Given the description of an element on the screen output the (x, y) to click on. 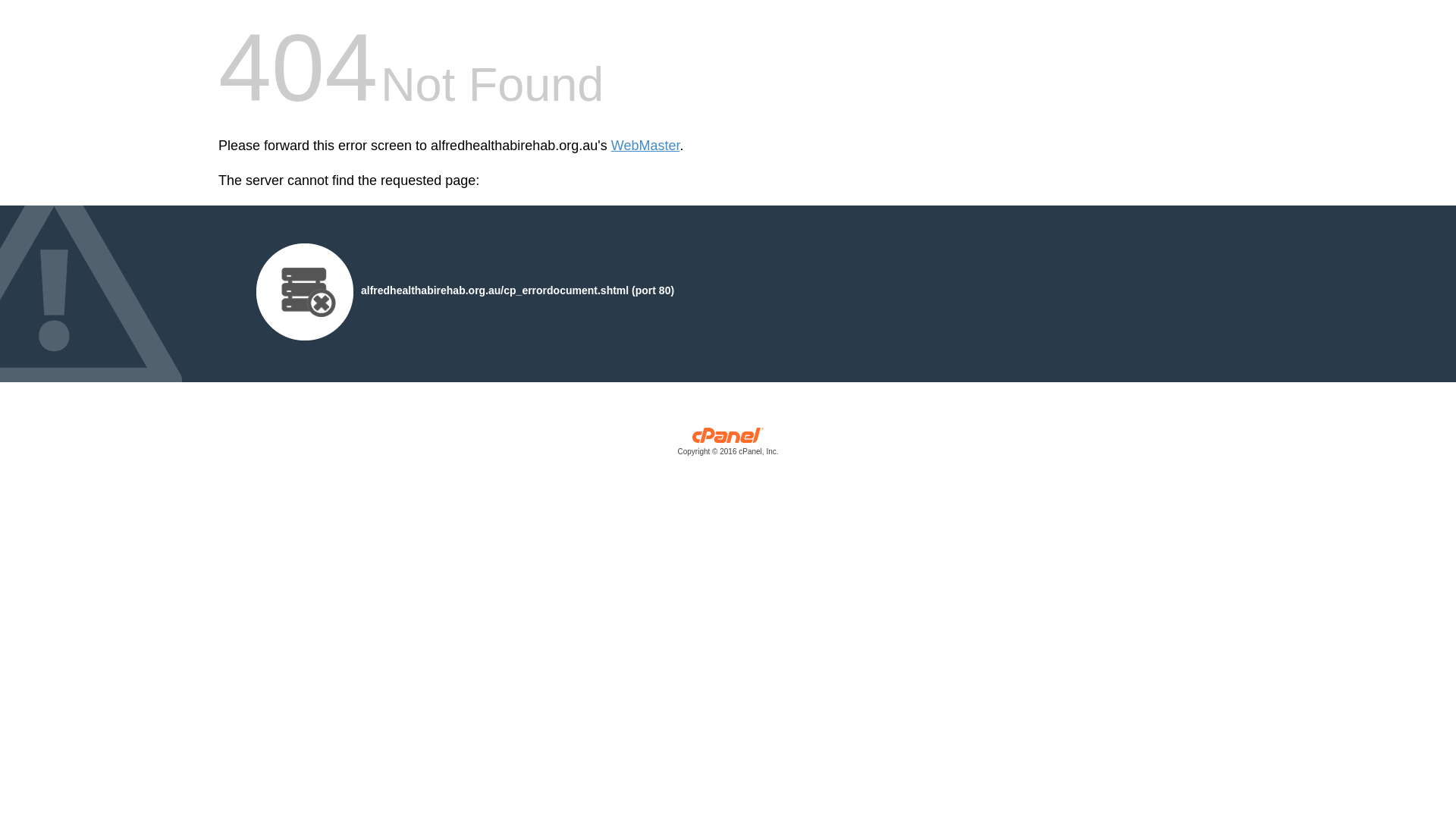
WebMaster Element type: text (645, 145)
